Given the description of an element on the screen output the (x, y) to click on. 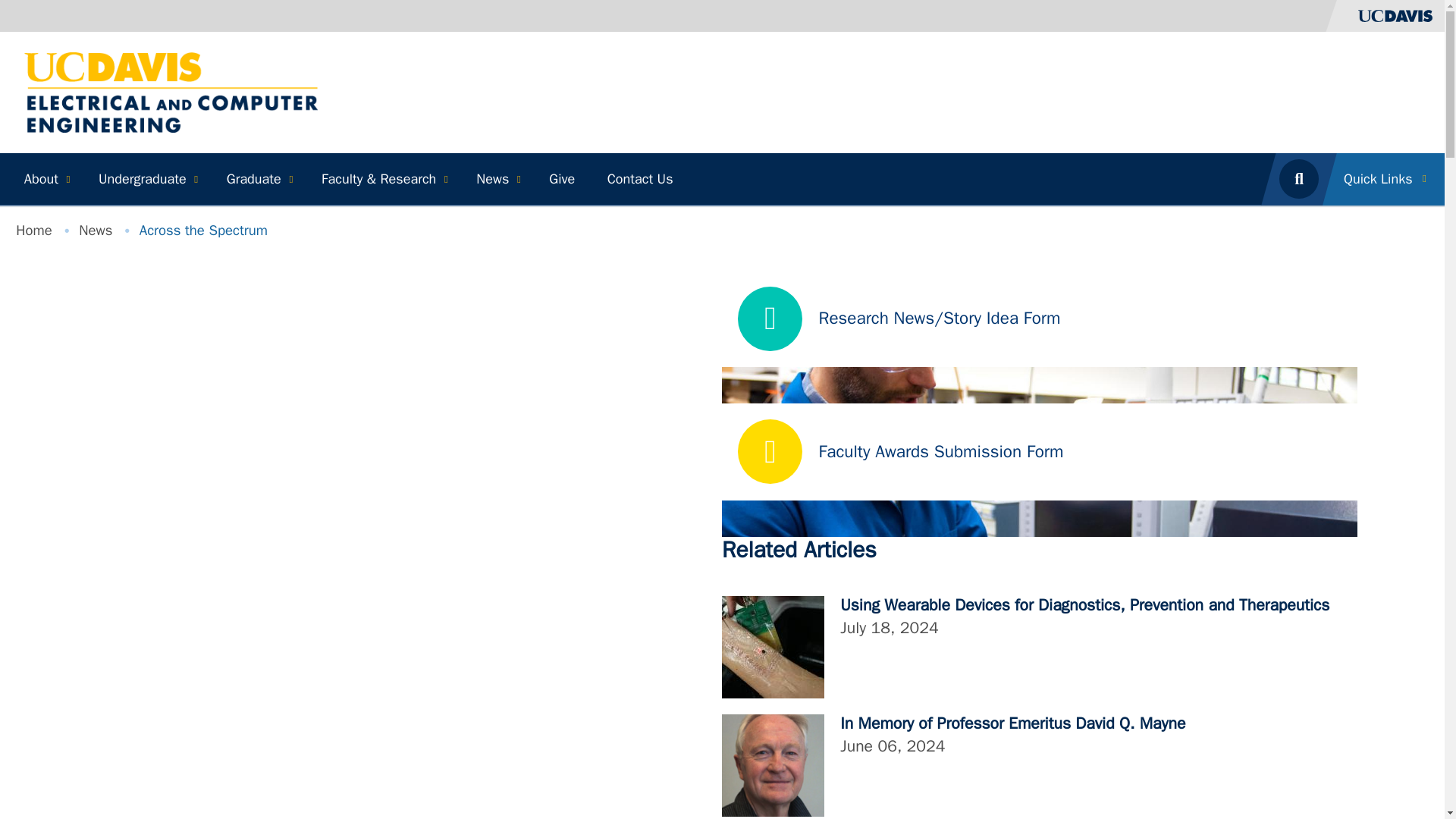
Undergraduate (146, 179)
About (45, 179)
Home (171, 91)
